Given the description of an element on the screen output the (x, y) to click on. 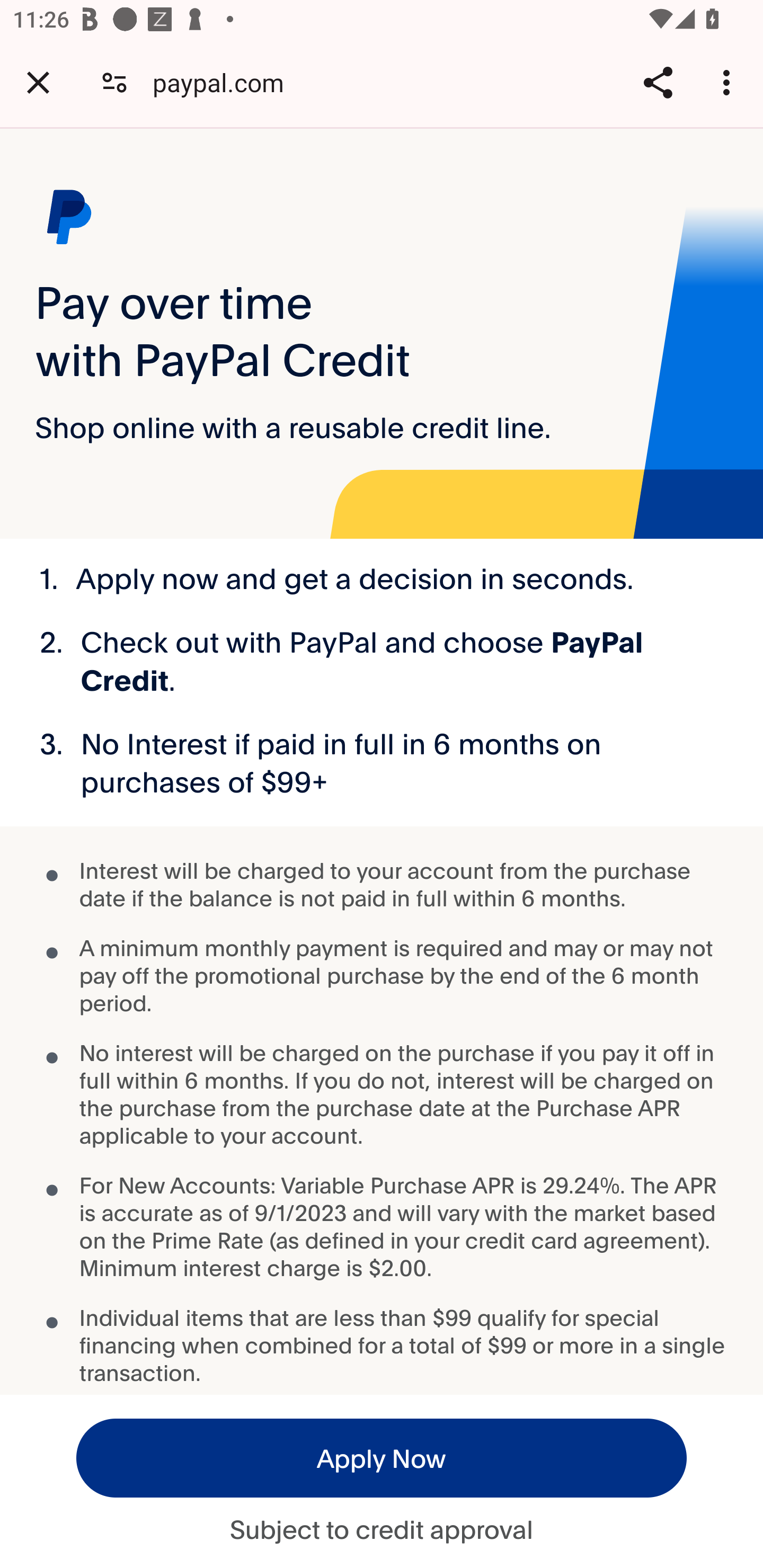
Close tab (38, 82)
Share (657, 82)
Customize and control Google Chrome (729, 82)
Connection is secure (114, 81)
paypal.com (224, 81)
Apply Now (381, 1458)
